Given the description of an element on the screen output the (x, y) to click on. 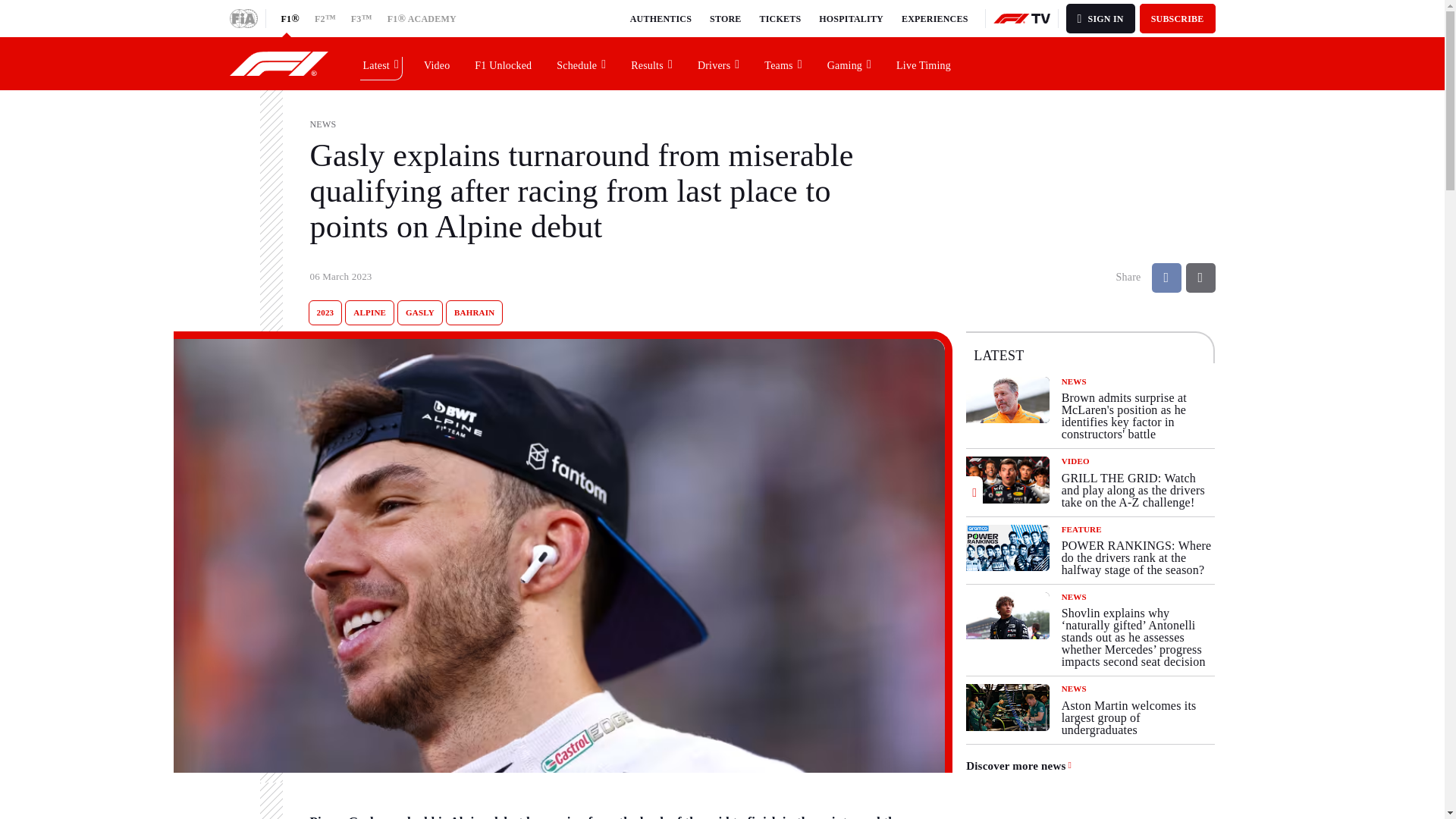
Discover more news (1018, 766)
Latest (380, 63)
Drivers (718, 63)
F1 Unlocked (503, 63)
Gaming (849, 63)
GASLY (419, 312)
Video (437, 63)
Teams (782, 63)
